Given the description of an element on the screen output the (x, y) to click on. 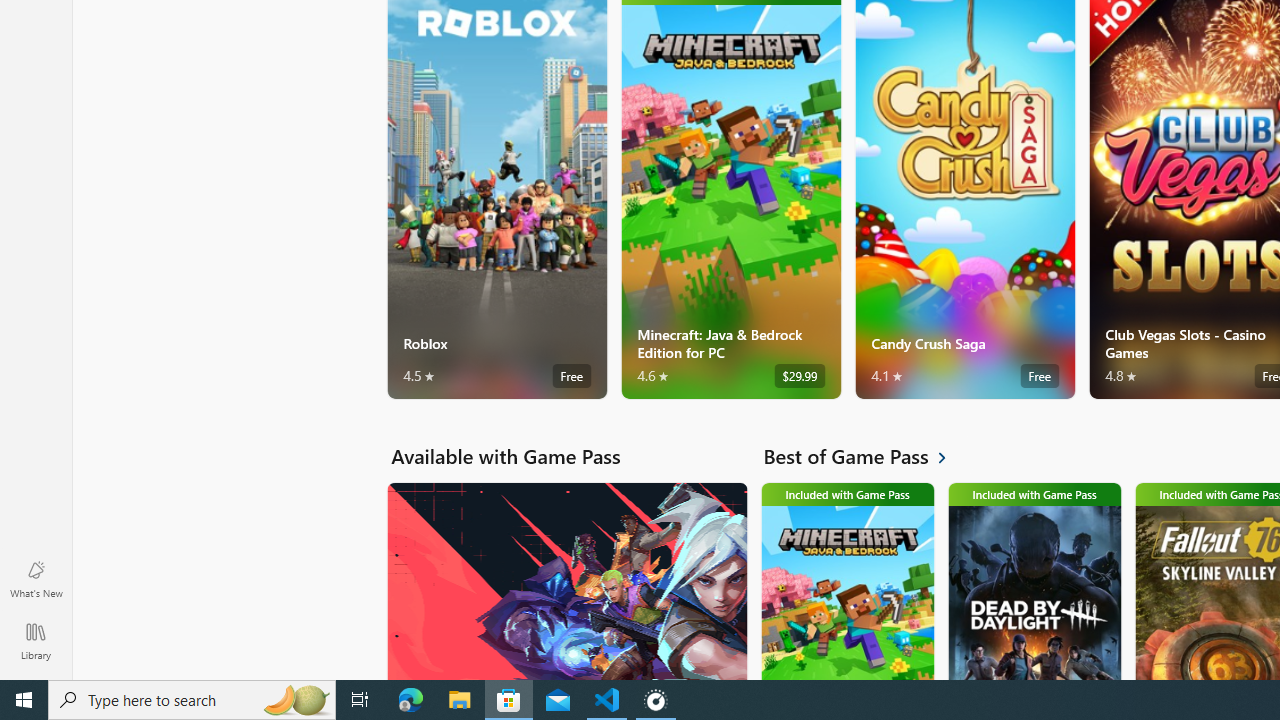
Available with Game Pass. VALORANT (566, 580)
See all  Best of Game Pass (866, 455)
What's New (35, 578)
Library (35, 640)
